Given the description of an element on the screen output the (x, y) to click on. 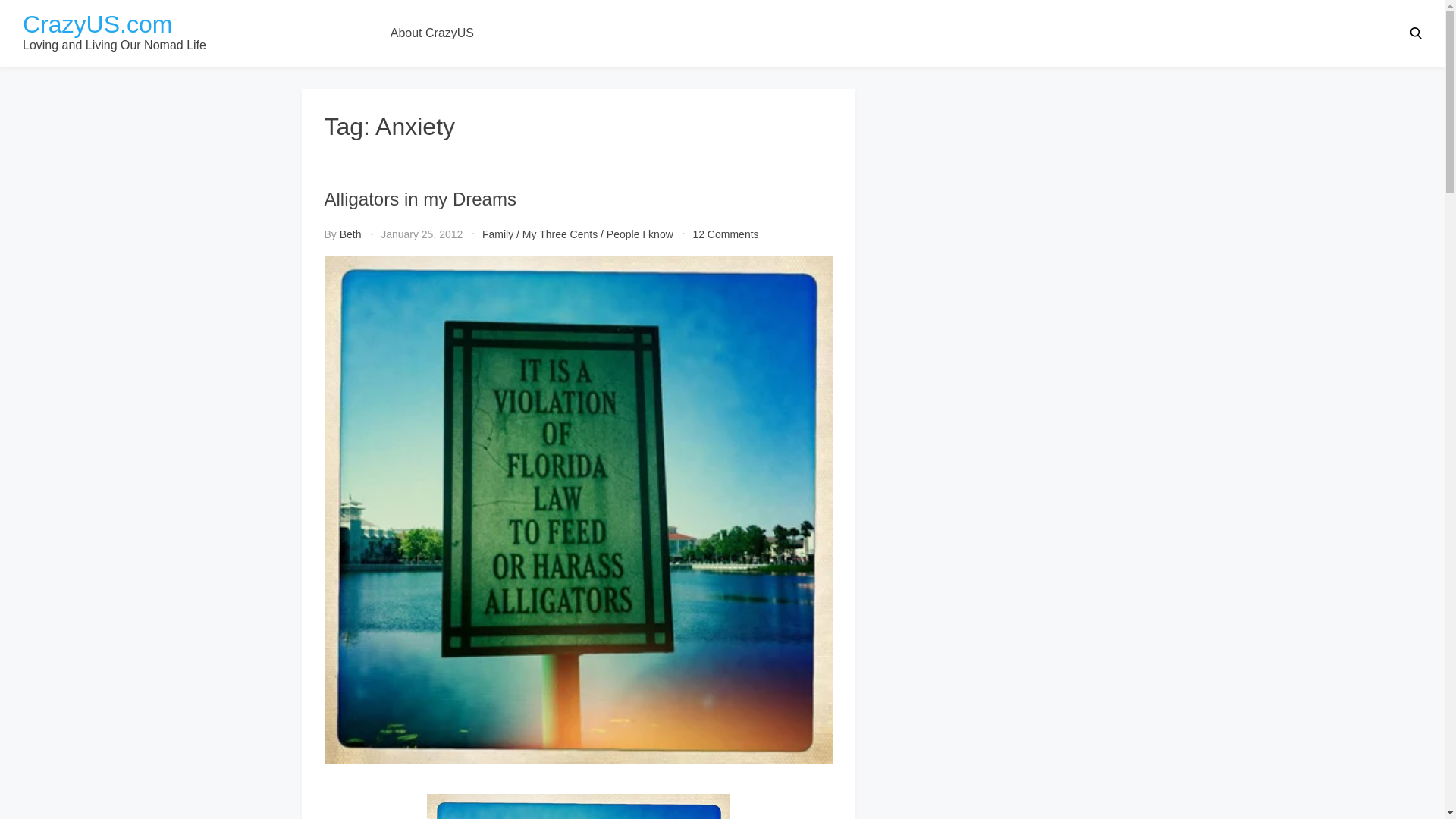
Alligators in my Dreams (420, 199)
CrazyUS.com (97, 23)
Family (497, 234)
People I know (639, 234)
About CrazyUS (432, 33)
Beth (350, 234)
January 25, 2012 (421, 234)
My Three Cents (559, 234)
Do Not Feed The Aligators (725, 234)
